Given the description of an element on the screen output the (x, y) to click on. 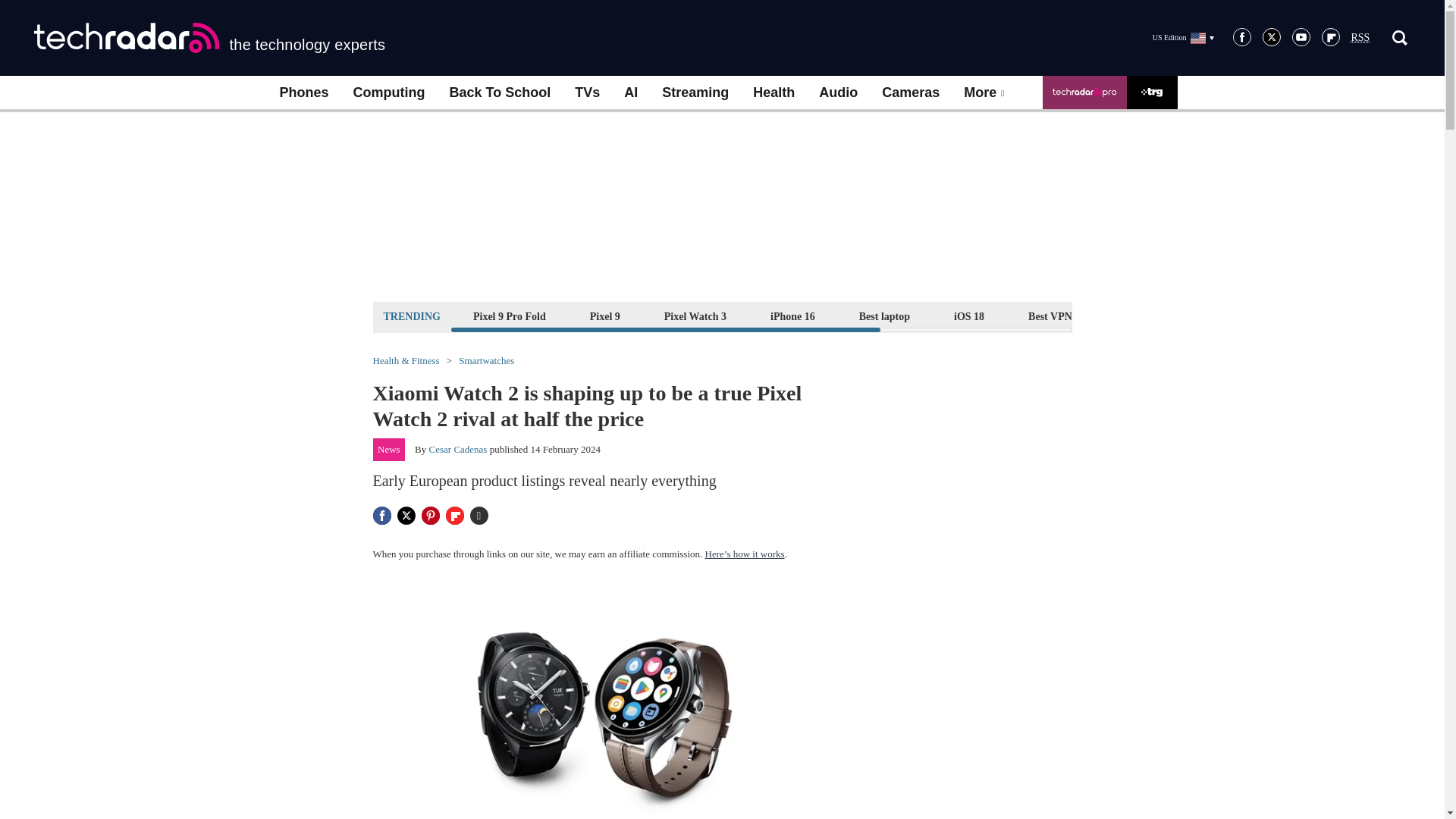
Streaming (695, 92)
the technology experts (209, 38)
Phones (303, 92)
Really Simple Syndication (1360, 37)
US Edition (1182, 37)
AI (630, 92)
Health (773, 92)
Computing (389, 92)
Cameras (910, 92)
TVs (586, 92)
